Given the description of an element on the screen output the (x, y) to click on. 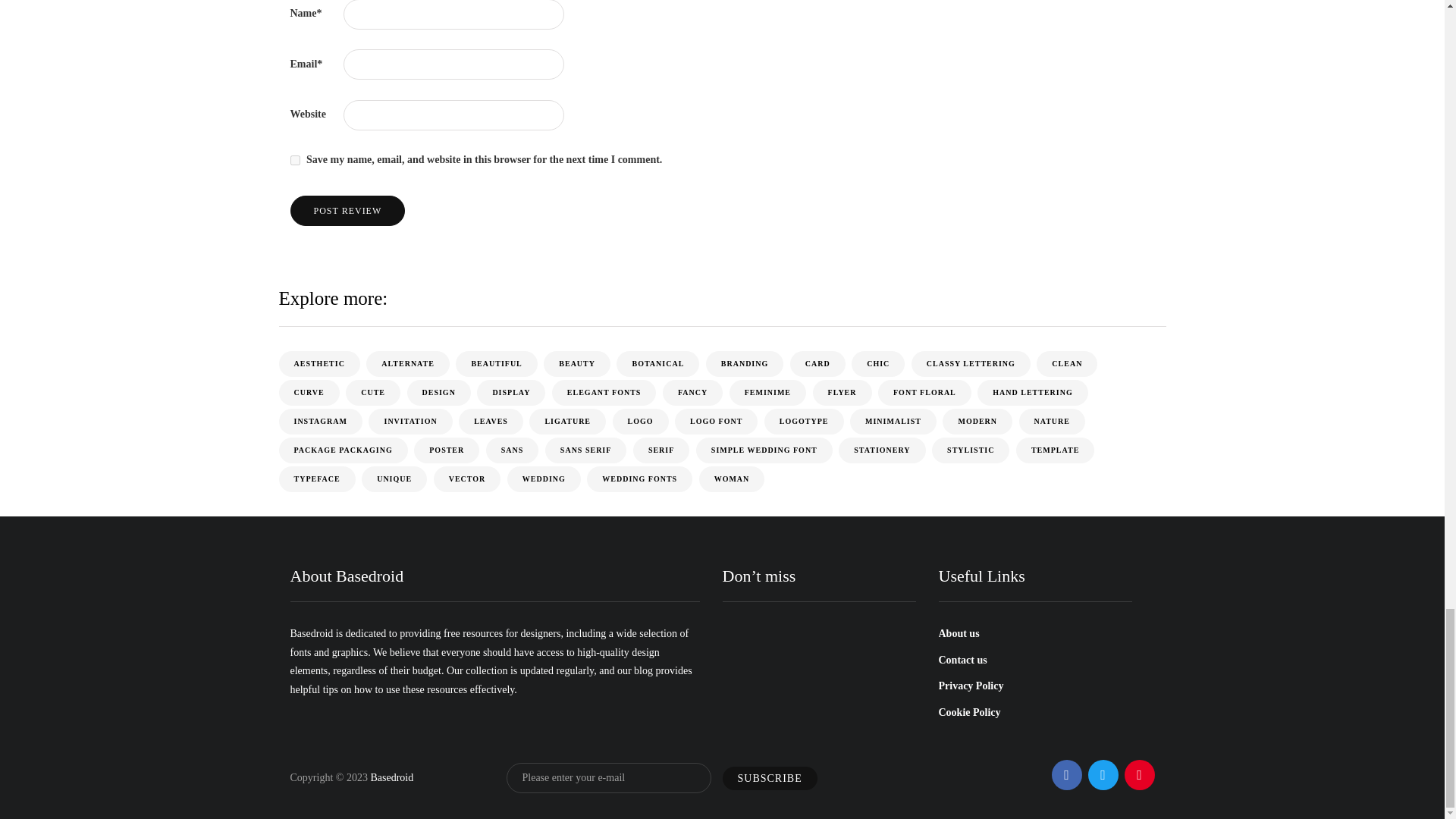
yes (294, 160)
Post review (346, 210)
